Given the description of an element on the screen output the (x, y) to click on. 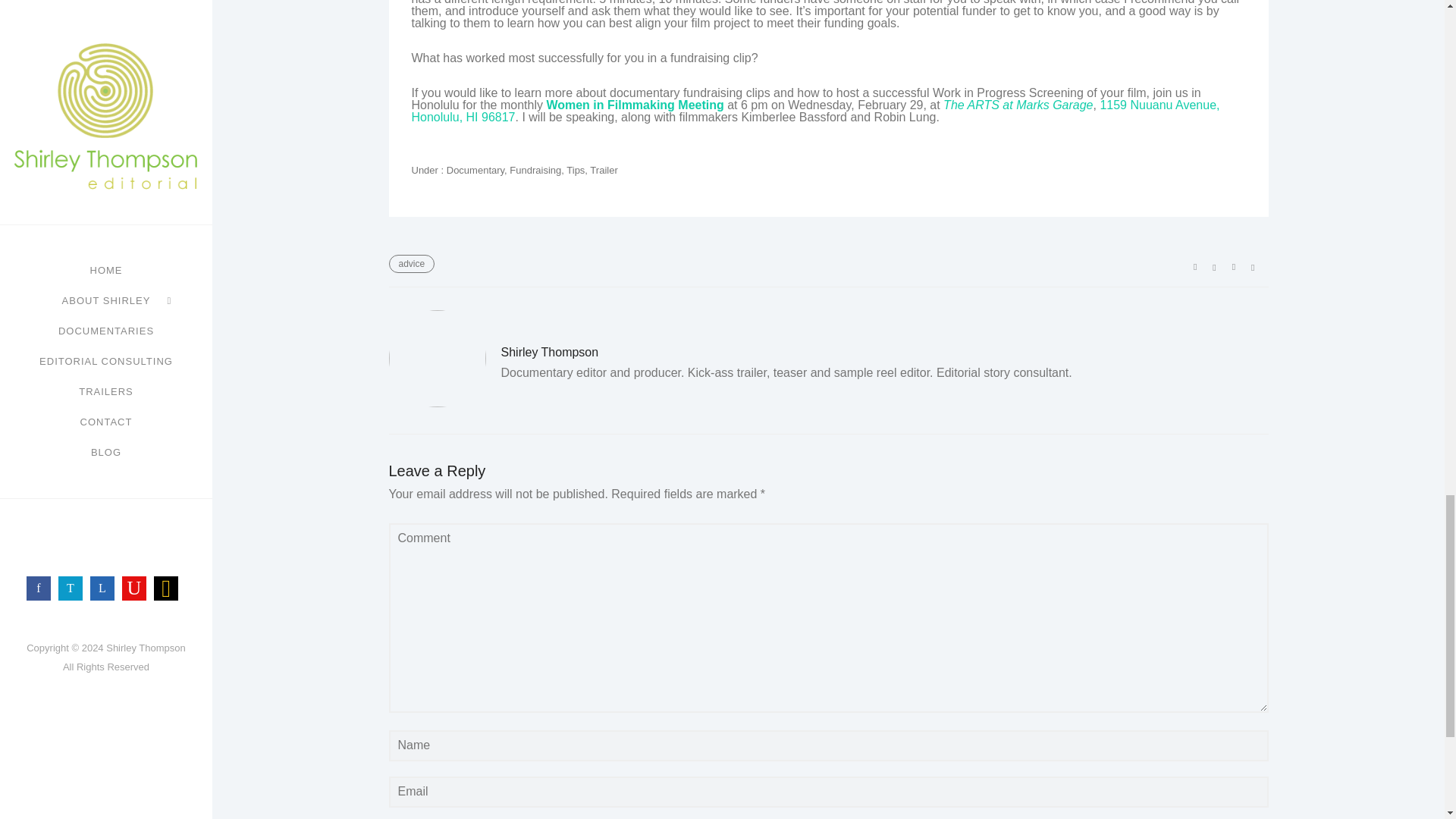
advice (410, 263)
Fundraising (534, 169)
1159 Nuuanu Avenue, Honolulu, HI 96817 (815, 110)
Trailer (603, 169)
Women in Filmmaking Meeting (634, 104)
Tips (575, 169)
The ARTS at Marks Garage (1018, 104)
Documentary (473, 169)
